Given the description of an element on the screen output the (x, y) to click on. 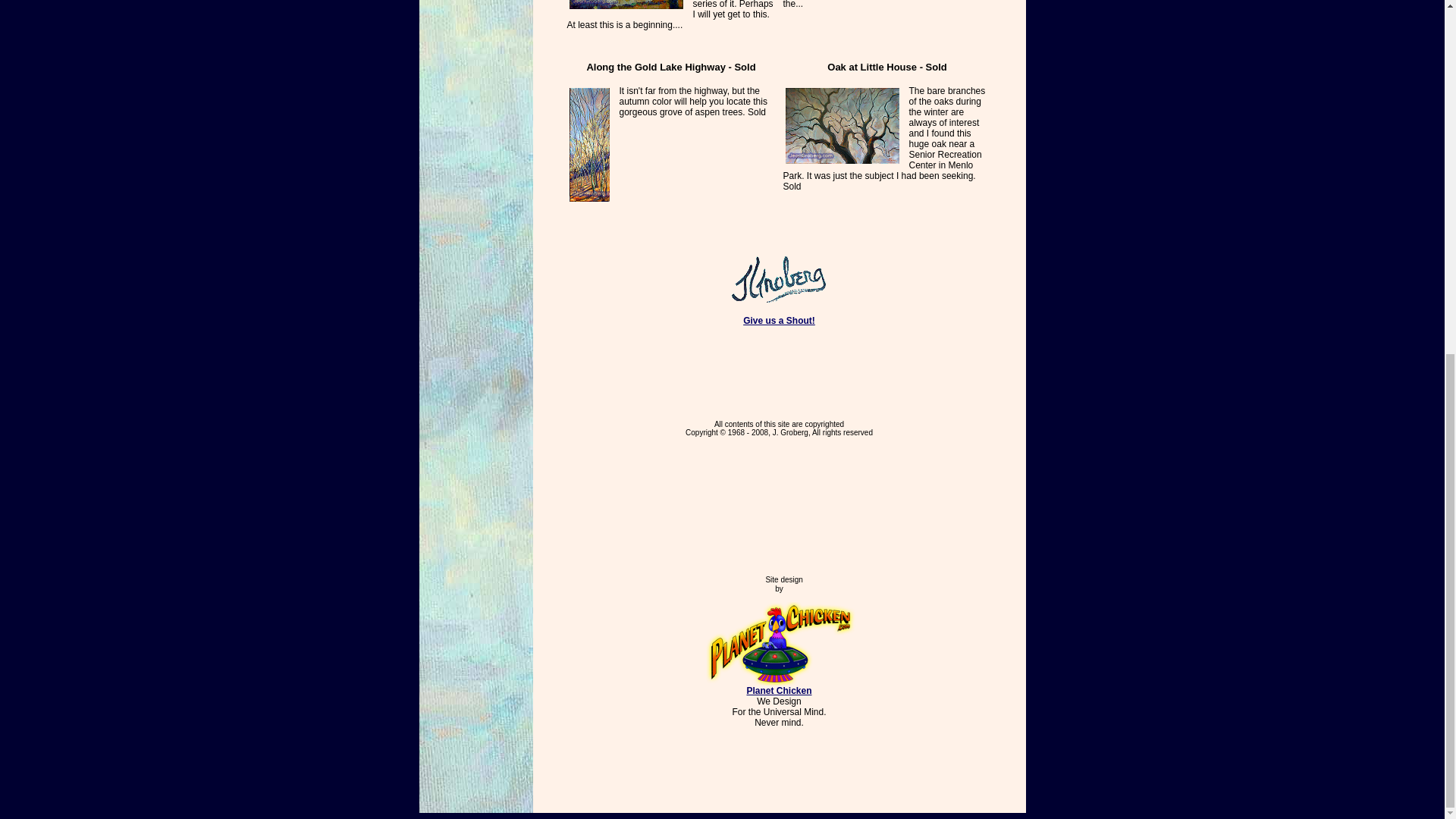
Give us a Shout! (778, 320)
